Given the description of an element on the screen output the (x, y) to click on. 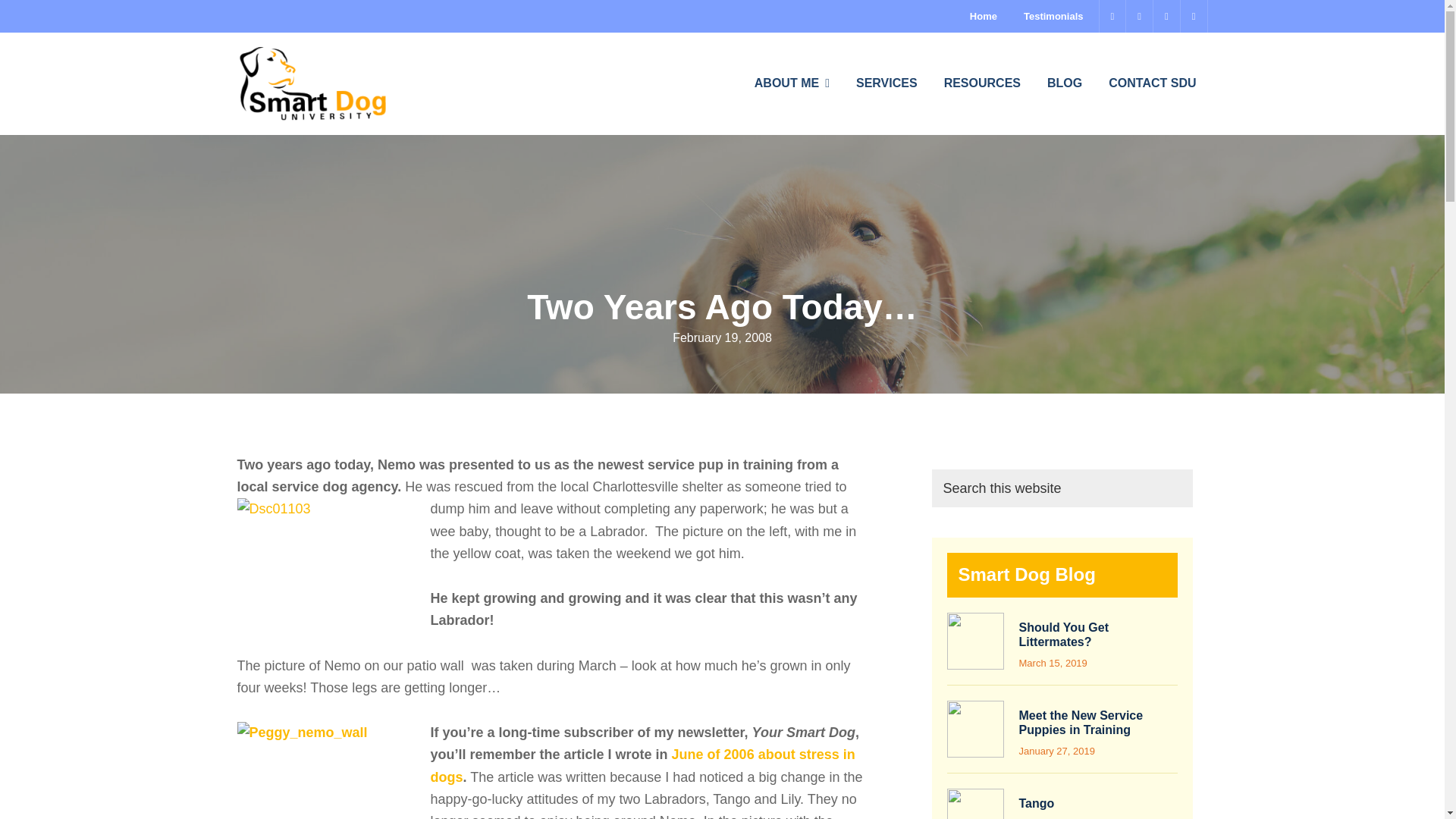
Testimonials (1052, 16)
CONTACT SDU (1152, 82)
RESOURCES (982, 82)
Home (983, 16)
Dsc01103 (330, 568)
Meet the New Service Puppies in Training (1080, 722)
Should You Get Littermates? (1064, 634)
ABOUT ME (791, 82)
BLOG (1064, 82)
SERVICES (886, 82)
June of 2006 about stress in dogs (643, 764)
